Given the description of an element on the screen output the (x, y) to click on. 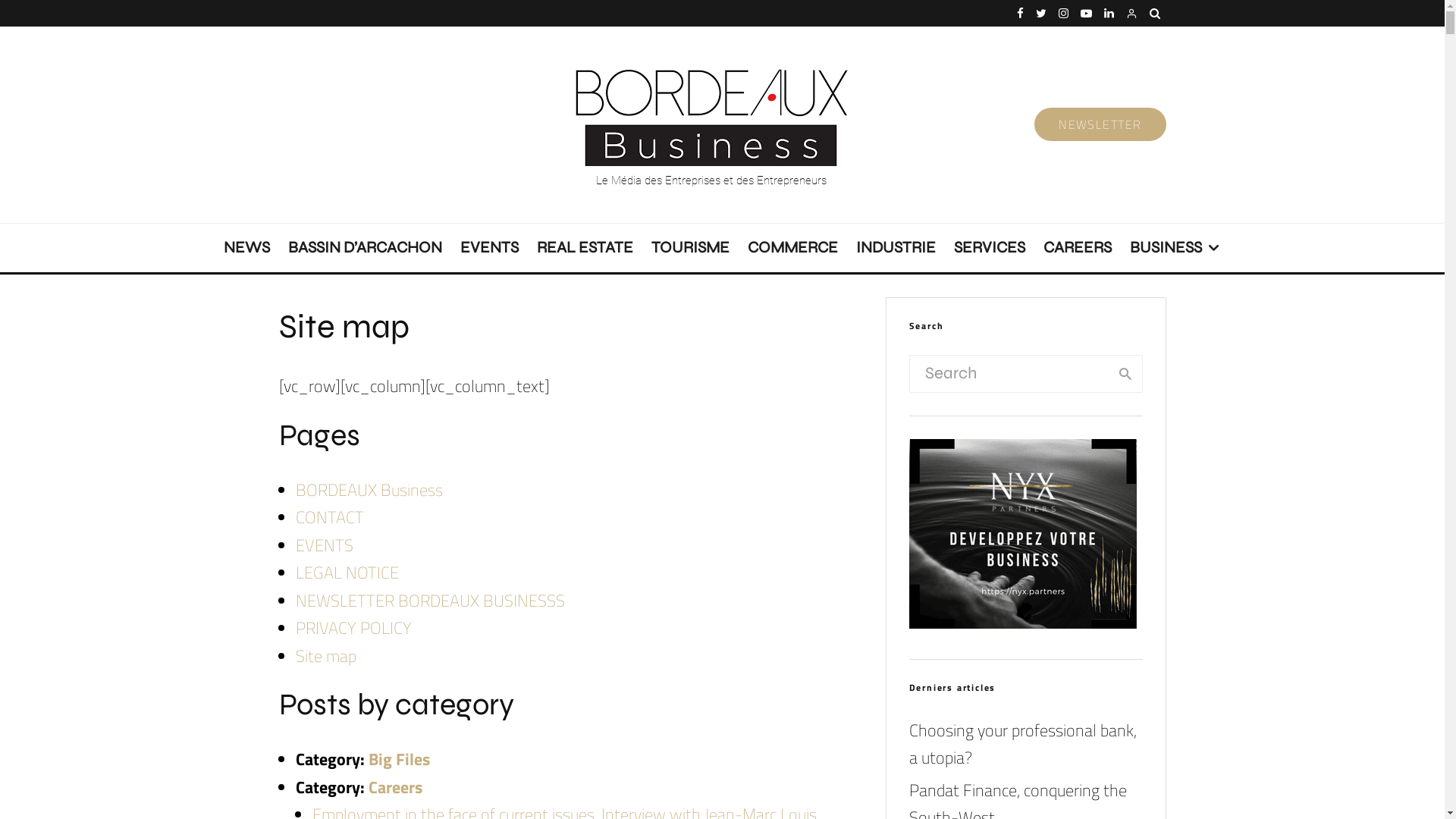
LEGAL NOTICE Element type: text (346, 572)
REAL ESTATE Element type: text (584, 247)
NEWSLETTER BORDEAUX BUSINESSS Element type: text (429, 600)
CAREERS Element type: text (1077, 247)
BORDEAUX Business Element type: text (368, 489)
NEWS Element type: text (245, 247)
COMMERCE Element type: text (792, 247)
Site map Element type: text (325, 655)
CONTACT Element type: text (329, 517)
NEWSLETTER Element type: text (1099, 124)
TOURISME Element type: text (689, 247)
BUSINESS Element type: text (1175, 247)
SERVICES Element type: text (989, 247)
Careers Element type: text (395, 787)
Big Files Element type: text (398, 758)
EVENTS Element type: text (324, 545)
PRIVACY POLICY Element type: text (353, 627)
Choosing your professional bank, a utopia? Element type: text (1021, 744)
Inscription Element type: text (867, 593)
INDUSTRIE Element type: text (895, 247)
EVENTS Element type: text (488, 247)
